Given the description of an element on the screen output the (x, y) to click on. 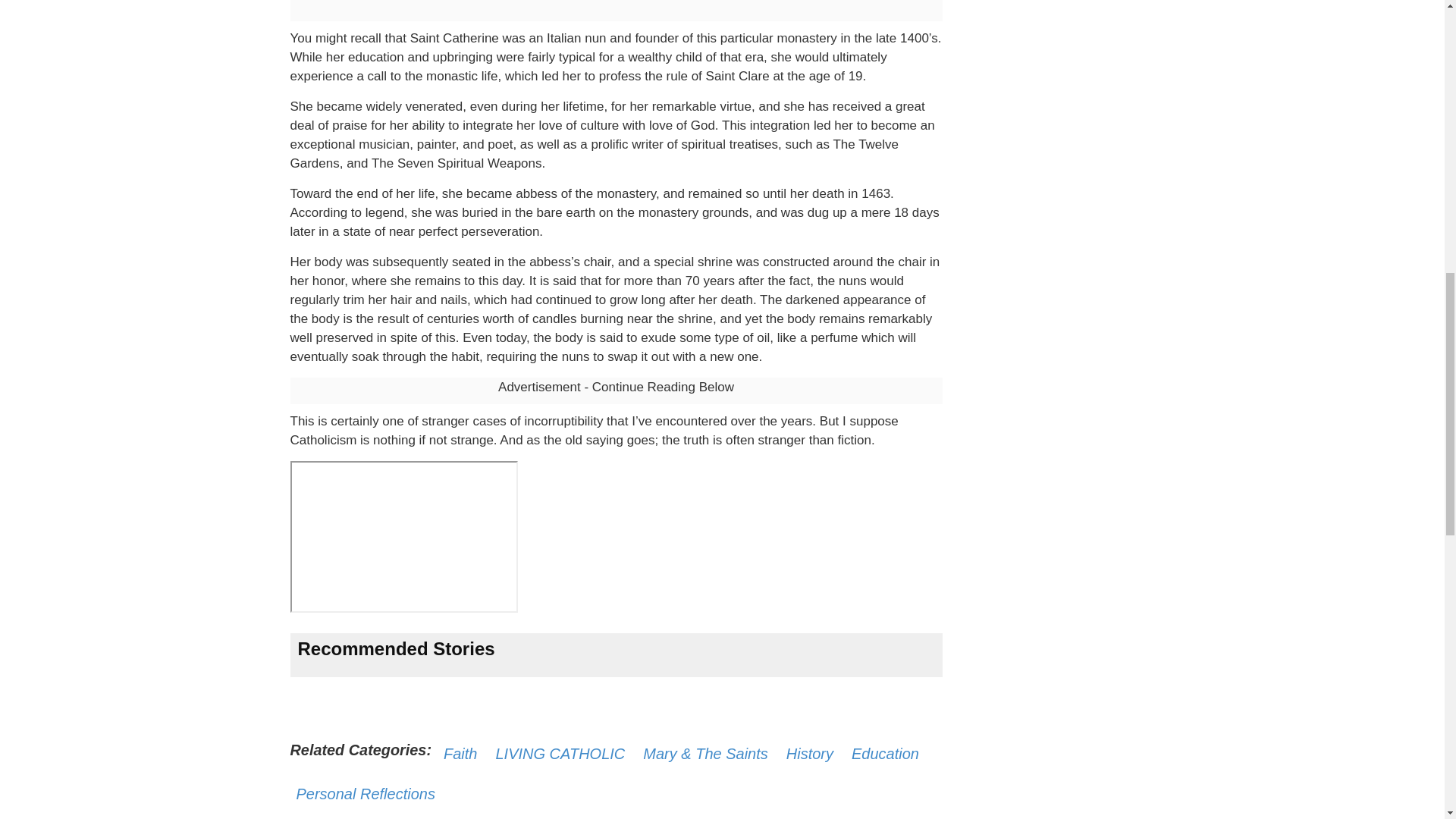
LIVING CATHOLIC (559, 753)
History (809, 753)
Faith (460, 753)
